Given the description of an element on the screen output the (x, y) to click on. 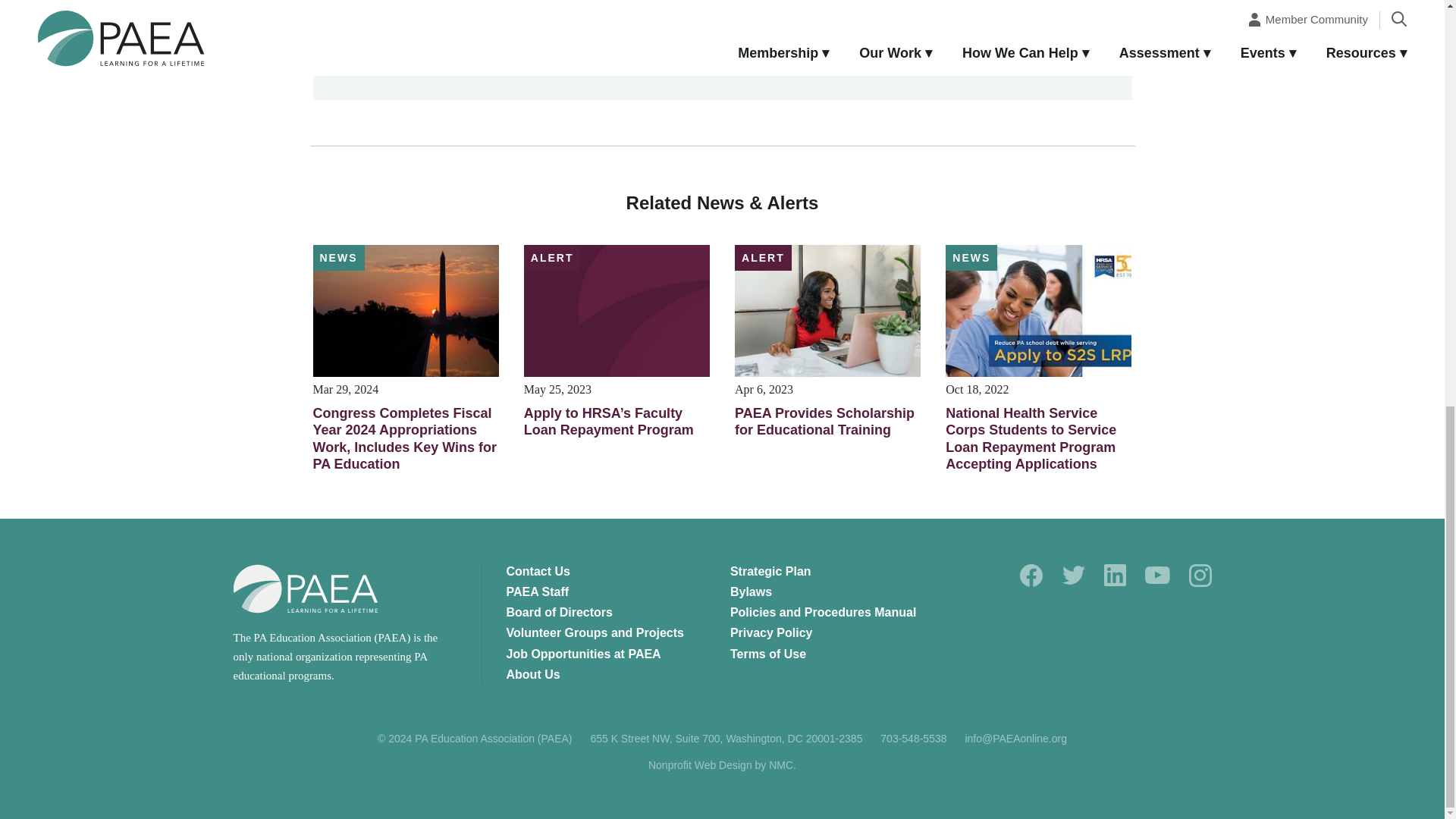
homepage (305, 588)
